Given the description of an element on the screen output the (x, y) to click on. 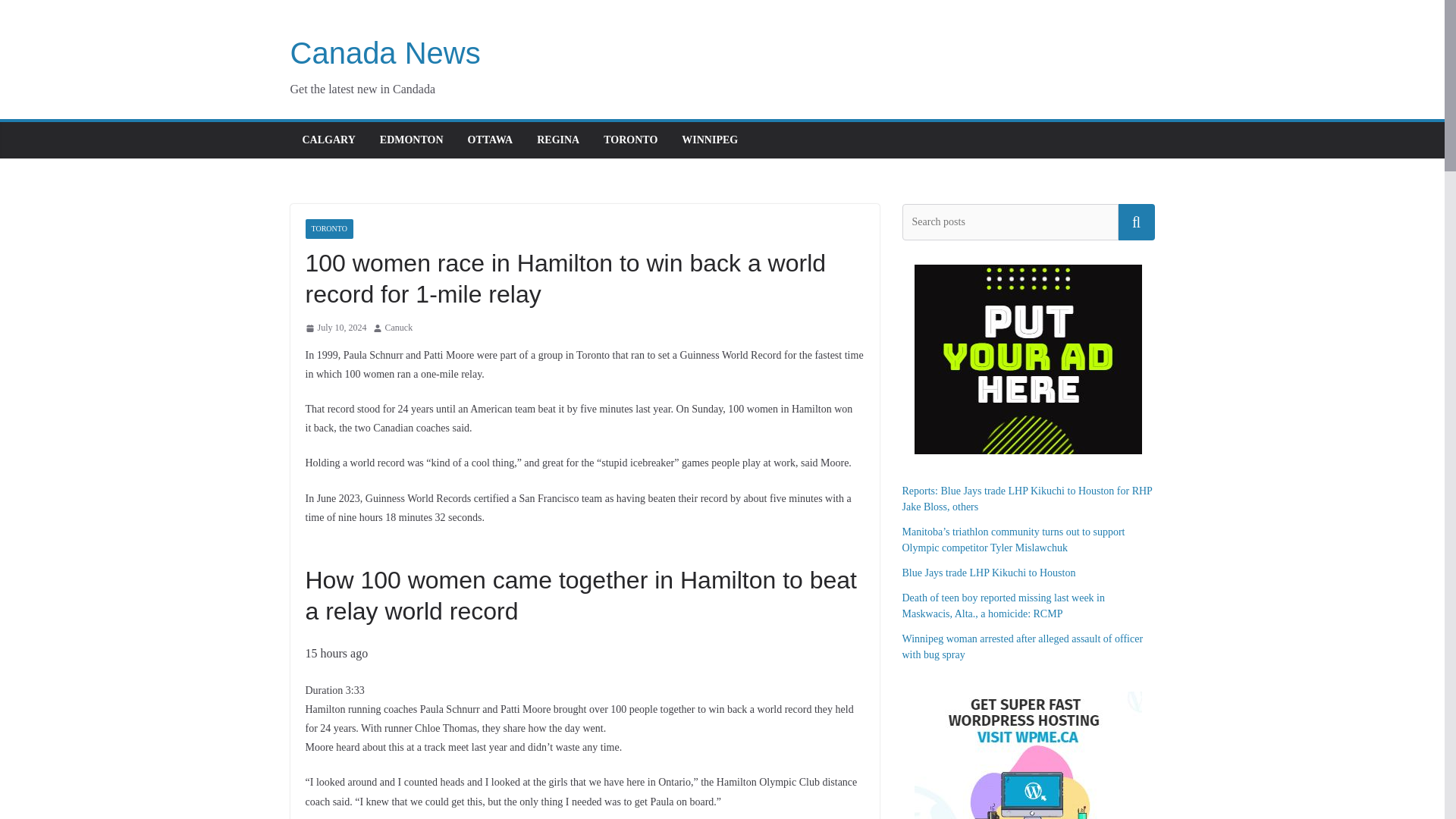
3:00 am (335, 328)
WINNIPEG (709, 139)
July 10, 2024 (335, 328)
Canuck (399, 328)
REGINA (558, 139)
TORONTO (631, 139)
OTTAWA (490, 139)
CALGARY (328, 139)
TORONTO (328, 229)
Canada News (384, 52)
Canuck (399, 328)
Canada News (384, 52)
EDMONTON (412, 139)
